Given the description of an element on the screen output the (x, y) to click on. 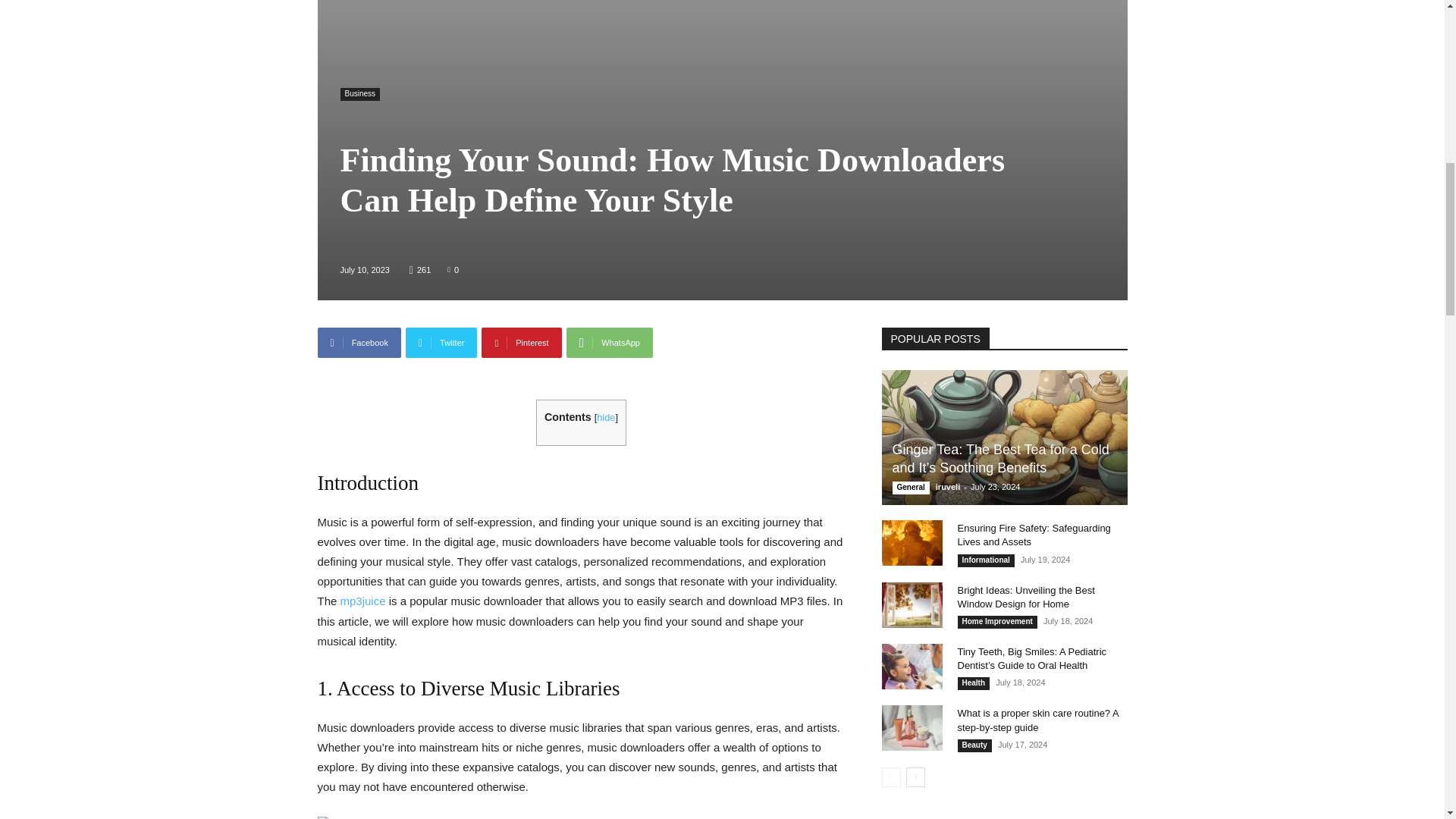
Twitter (441, 342)
Business (359, 93)
WhatsApp (609, 342)
mp3juice (362, 600)
WhatsApp (609, 342)
Pinterest (520, 342)
Facebook (358, 342)
hide (605, 417)
Facebook (358, 342)
Pinterest (520, 342)
0 (452, 268)
Twitter (441, 342)
